Given the description of an element on the screen output the (x, y) to click on. 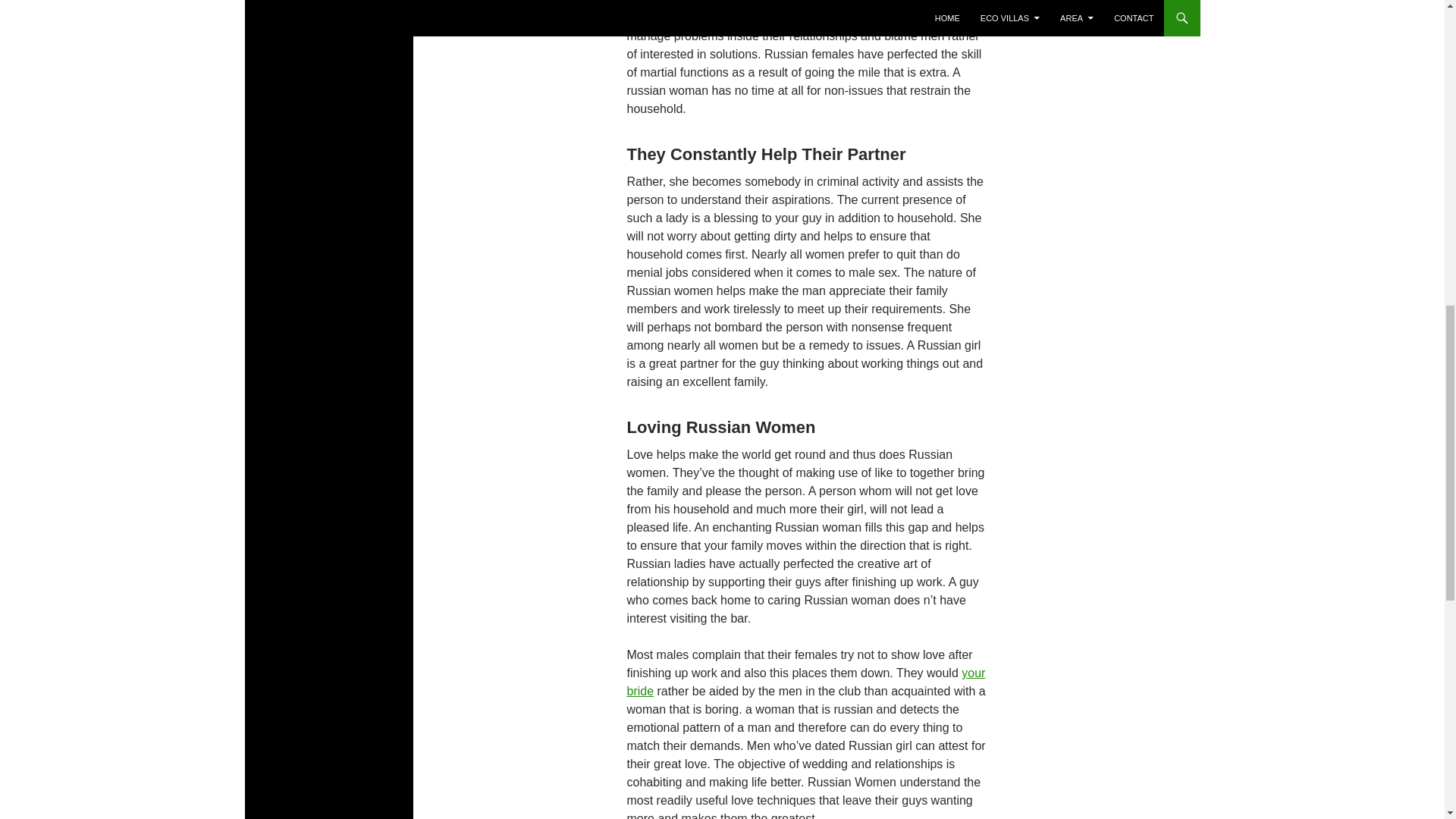
your bride (805, 681)
